Given the description of an element on the screen output the (x, y) to click on. 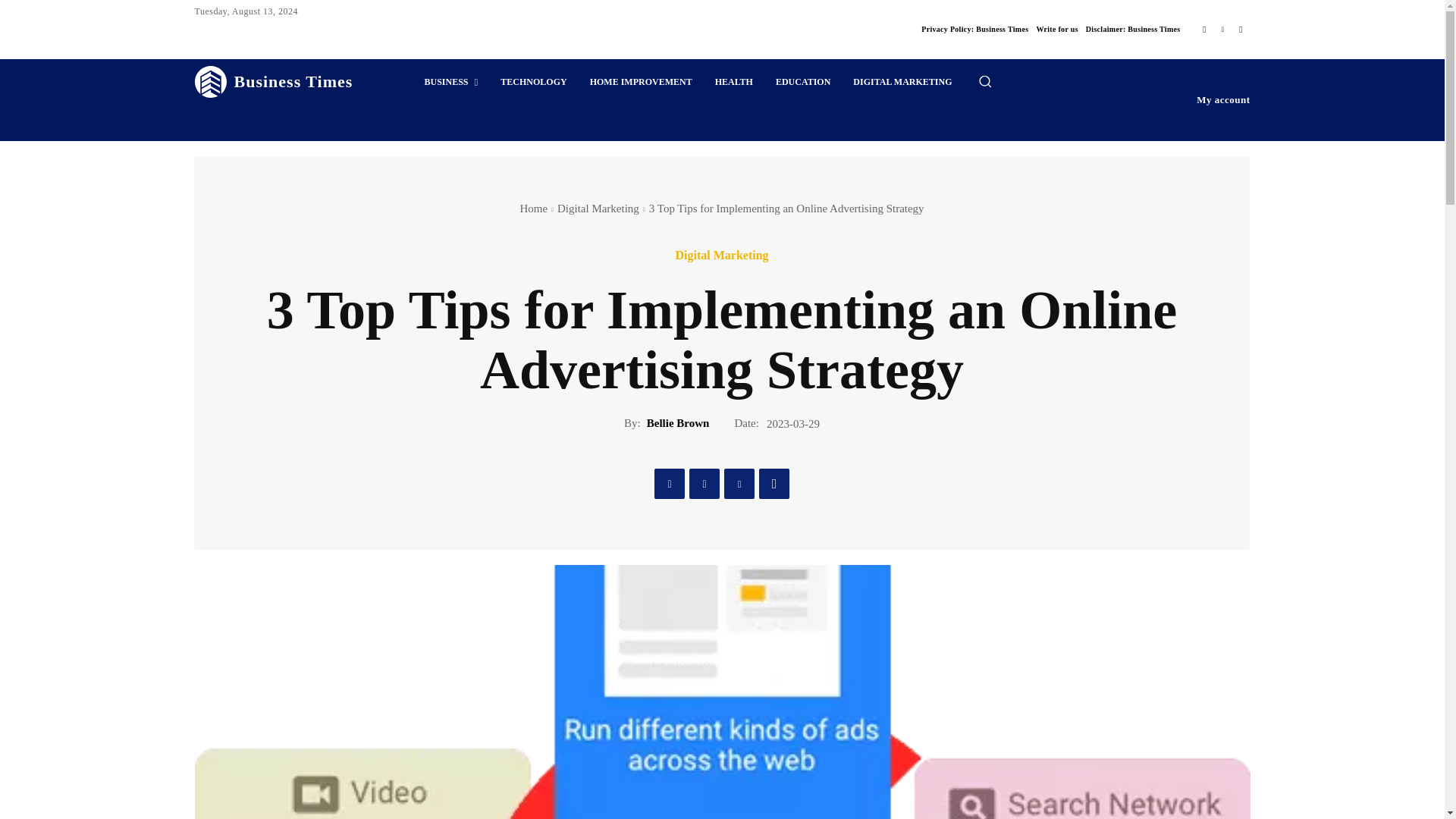
Write for us (1056, 29)
HOME IMPROVEMENT (640, 81)
Pinterest (738, 483)
Business Times (272, 81)
HEALTH (733, 81)
Facebook (1203, 29)
TECHNOLOGY (533, 81)
Home (533, 208)
Twitter (703, 483)
EDUCATION (802, 81)
